Given the description of an element on the screen output the (x, y) to click on. 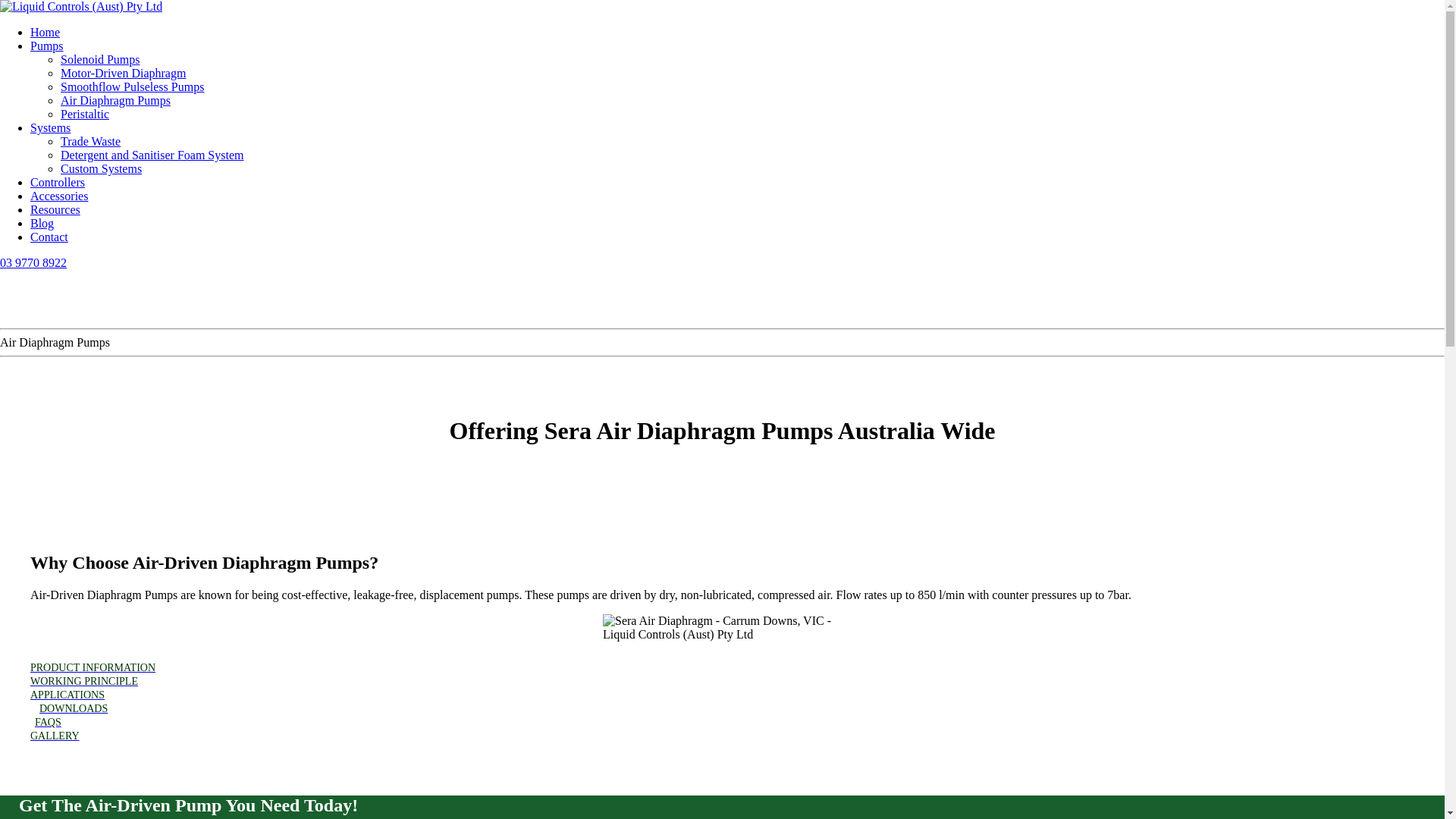
Pumps Element type: text (46, 45)
Solenoid Pumps Element type: text (99, 59)
Liquid Controls (Aust) Pty Ltd Element type: hover (81, 6)
Accessories Element type: text (58, 195)
03 9770 8922 Element type: text (33, 262)
Detergent and Sanitiser Foam System Element type: text (151, 154)
GALLERY Element type: text (54, 734)
Custom Systems Element type: text (100, 168)
Motor-Driven Diaphragm Element type: text (122, 72)
APPLICATIONS Element type: text (67, 693)
sales@liquidcontrols.com.au Element type: text (61, 288)
Peristaltic Element type: text (84, 113)
Systems Element type: text (50, 127)
Air Diaphragm Pumps Element type: text (115, 100)
Blog Element type: text (41, 222)
Home Element type: text (44, 31)
20A Access Way, Carrum Downs, VIC 3201 Element type: text (94, 311)
DOWNLOADS Element type: text (73, 707)
FAQS Element type: text (47, 721)
Resources Element type: text (55, 209)
Trade Waste Element type: text (90, 140)
Contact Element type: text (49, 236)
Controllers Element type: text (57, 181)
PRODUCT INFORMATION Element type: text (92, 666)
WORKING PRINCIPLE Element type: text (84, 680)
Smoothflow Pulseless Pumps Element type: text (131, 86)
